Given the description of an element on the screen output the (x, y) to click on. 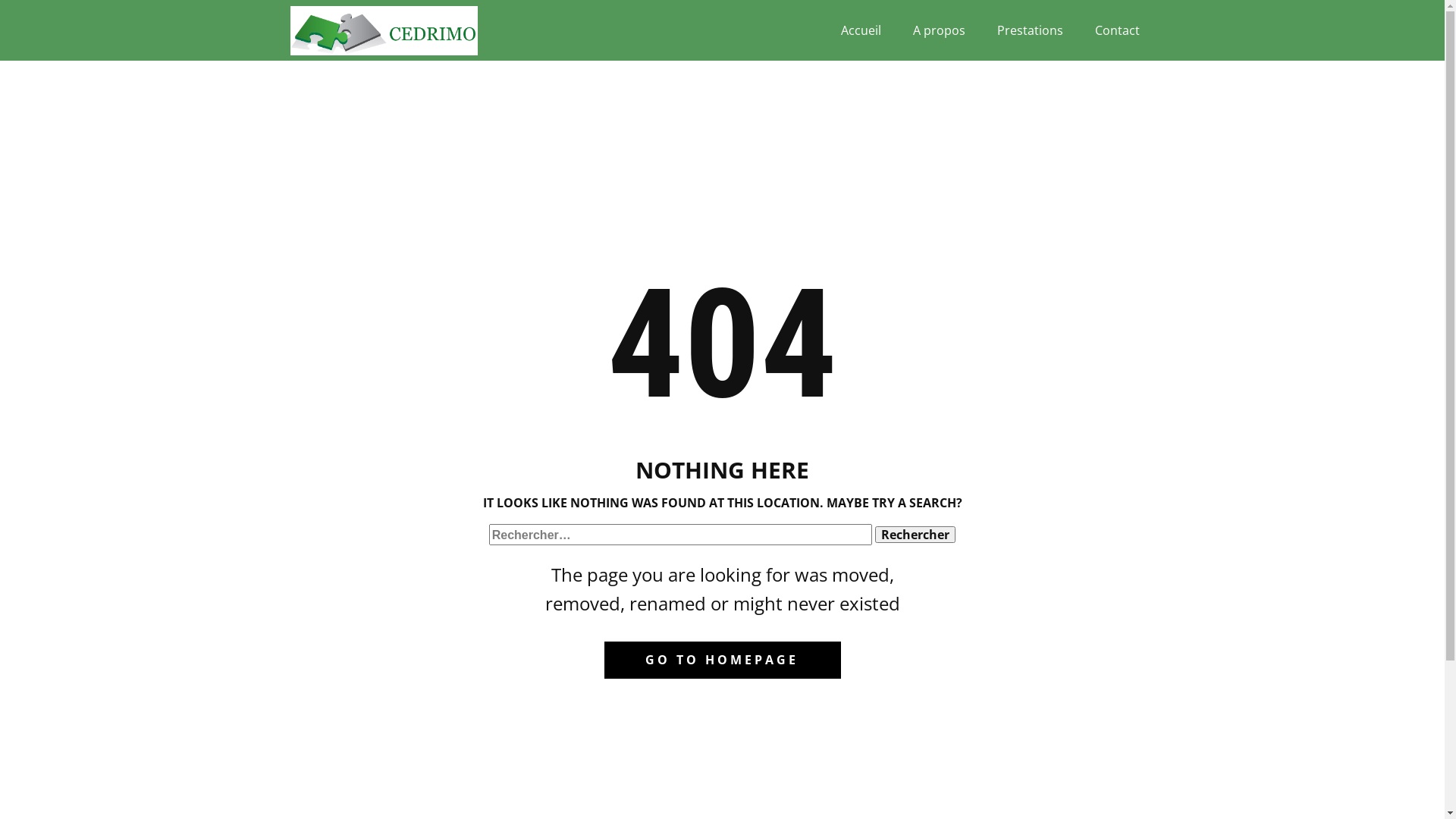
A propos Element type: text (938, 29)
Accueil Element type: text (860, 29)
Prestations Element type: text (1029, 29)
Rechercher Element type: text (915, 534)
Contact Element type: text (1116, 29)
GO TO HOMEPAGE Element type: text (721, 660)
